Given the description of an element on the screen output the (x, y) to click on. 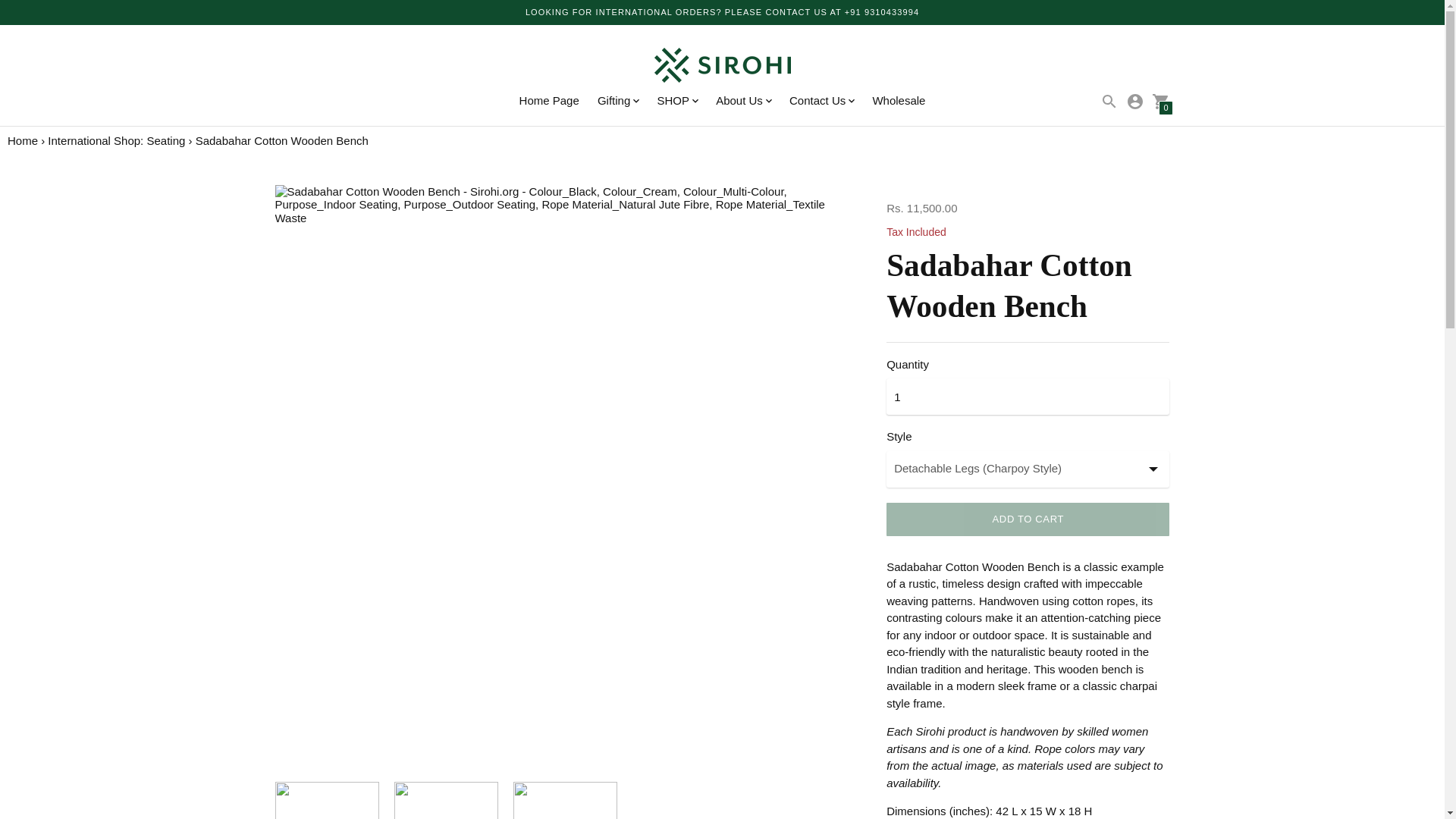
SHOP (676, 100)
About Us (743, 100)
Home (22, 140)
Home Page (549, 100)
1 (1027, 396)
Gifting (617, 100)
